Given the description of an element on the screen output the (x, y) to click on. 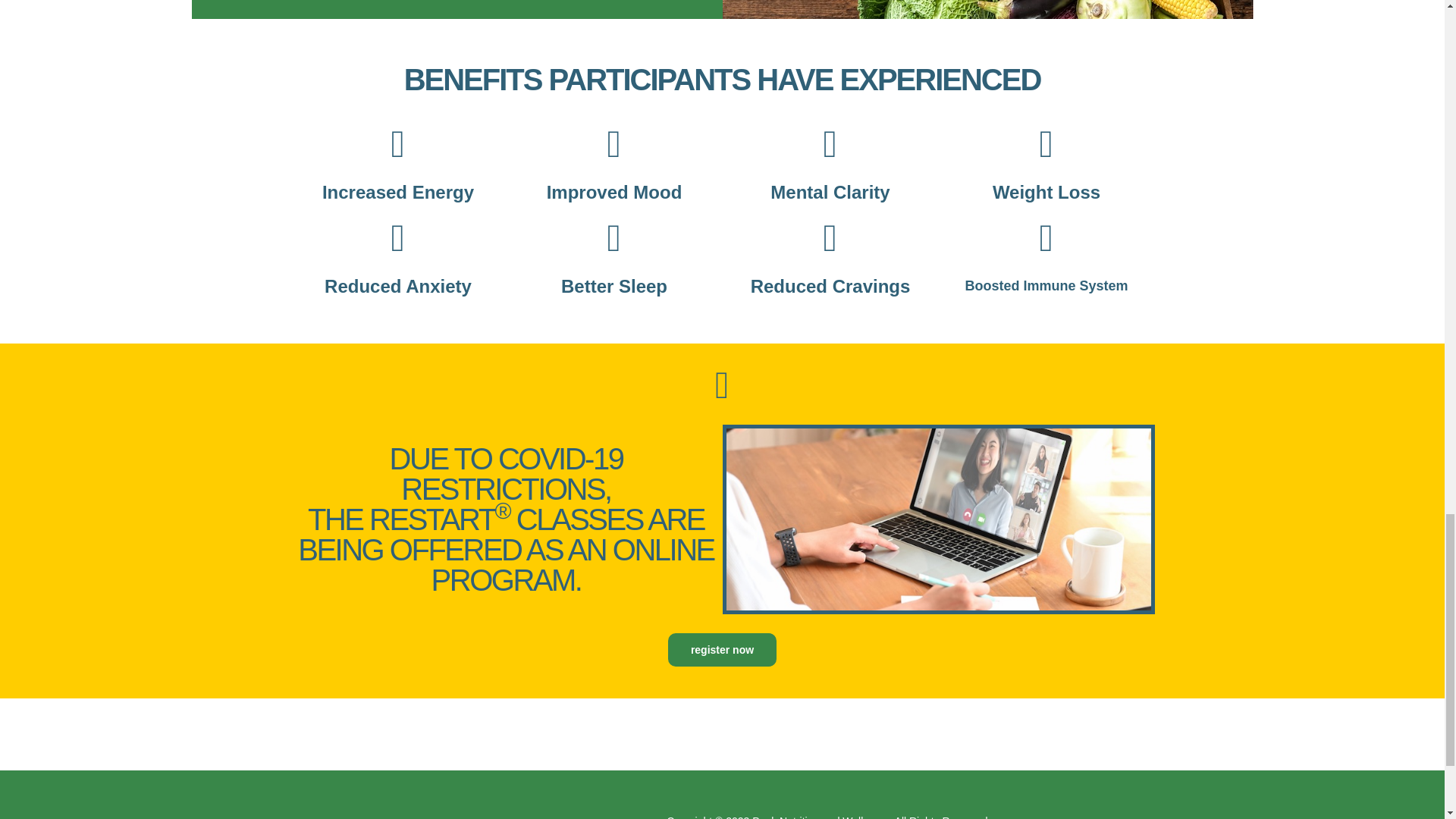
register now (722, 649)
